Given the description of an element on the screen output the (x, y) to click on. 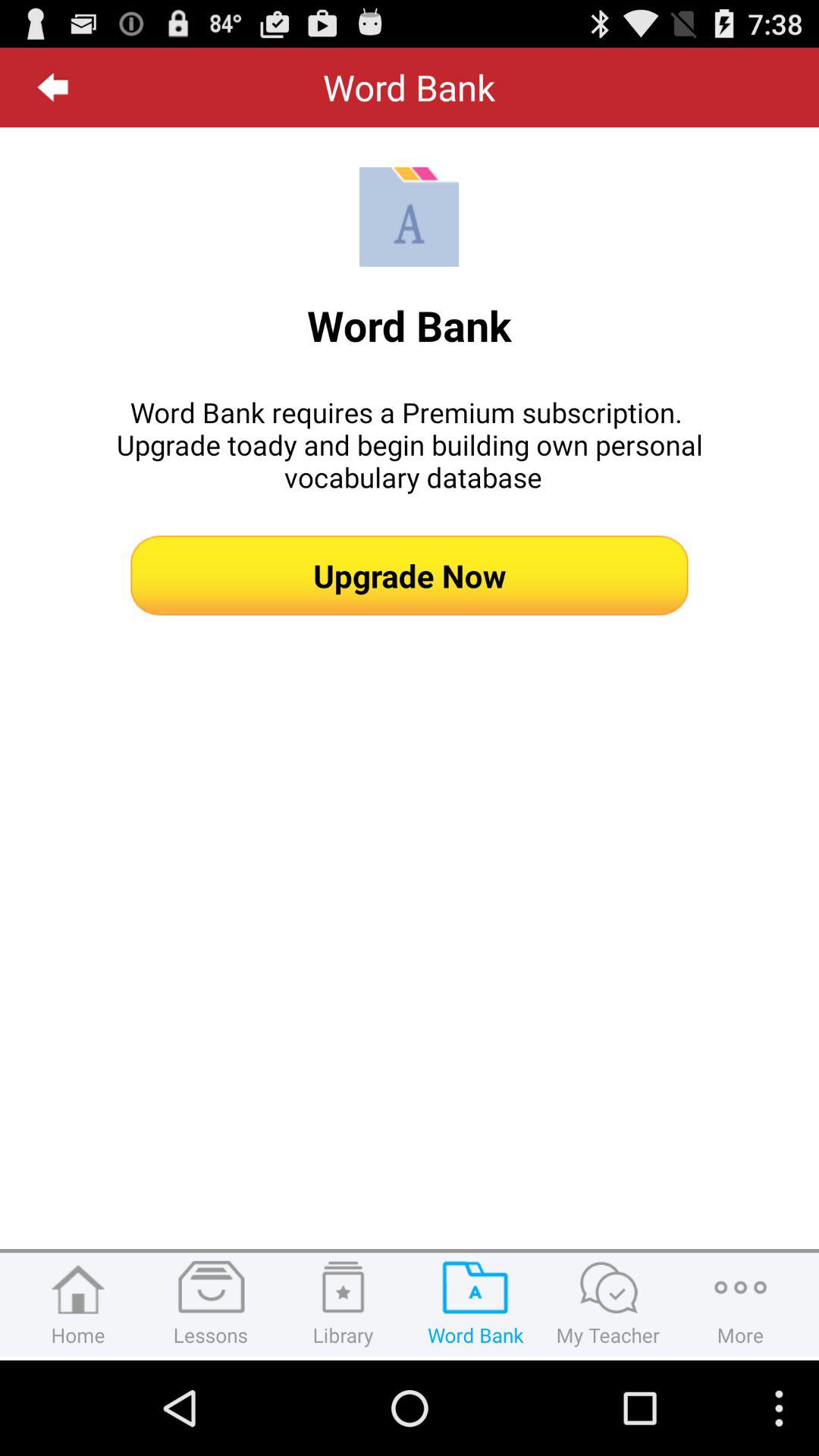
launch the app to the left of word bank icon (53, 87)
